Given the description of an element on the screen output the (x, y) to click on. 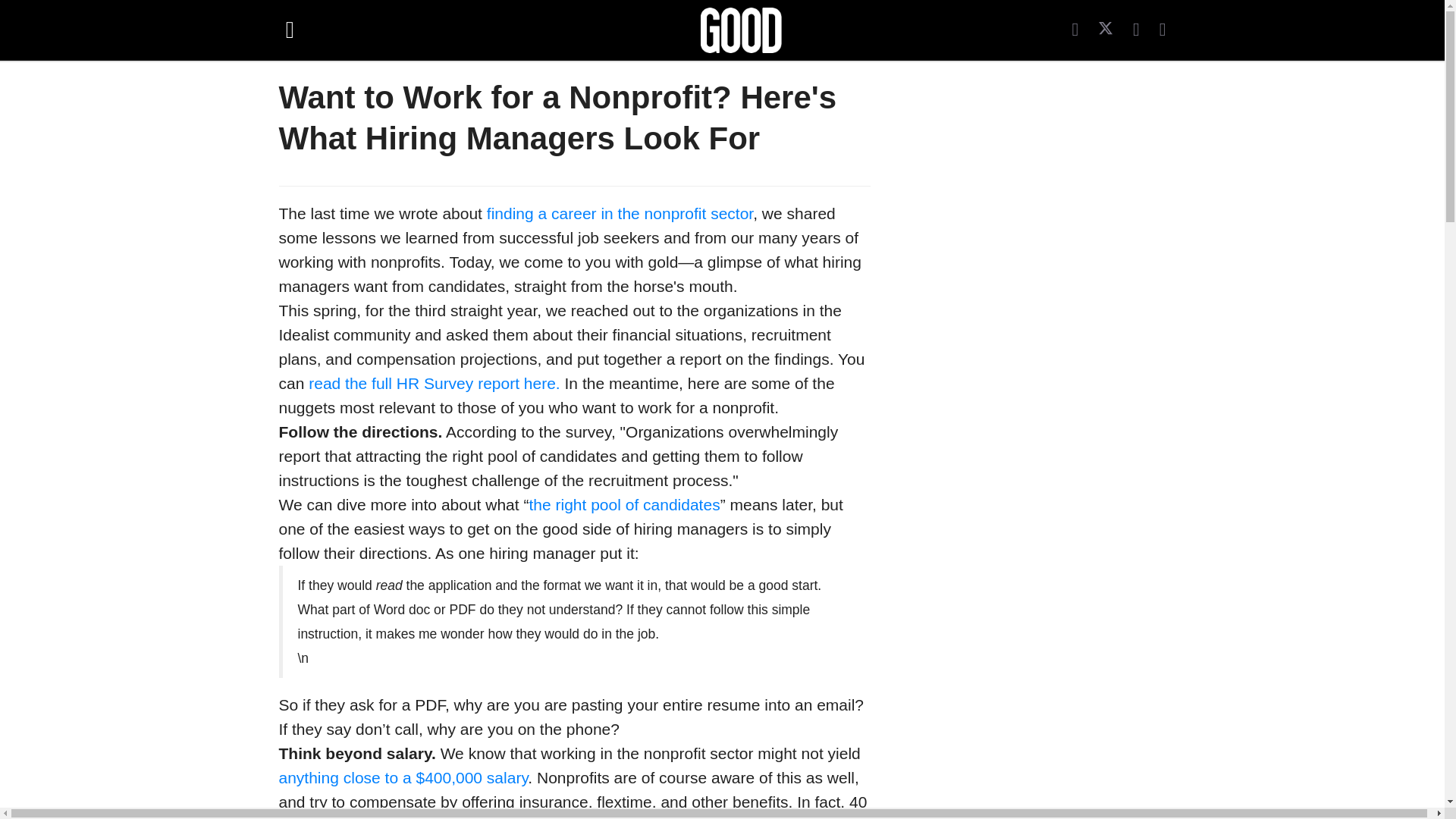
the right pool of candidates (623, 504)
finding a career in the nonprofit sector (619, 212)
read the full HR Survey report here. (434, 383)
